Given the description of an element on the screen output the (x, y) to click on. 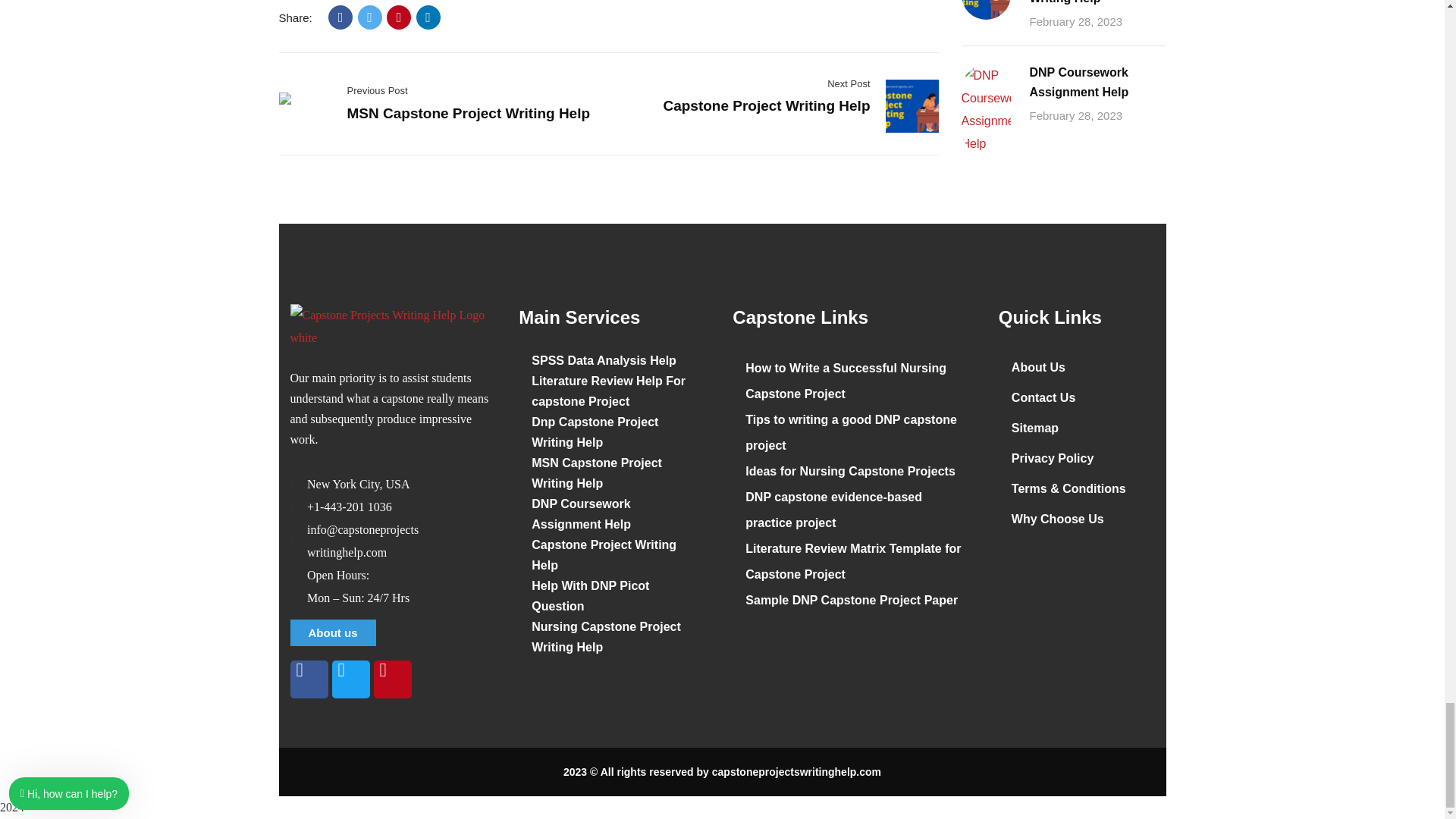
Pinterest (398, 16)
Facebook (340, 16)
Twitter (369, 16)
LinkedIn (428, 16)
